Given the description of an element on the screen output the (x, y) to click on. 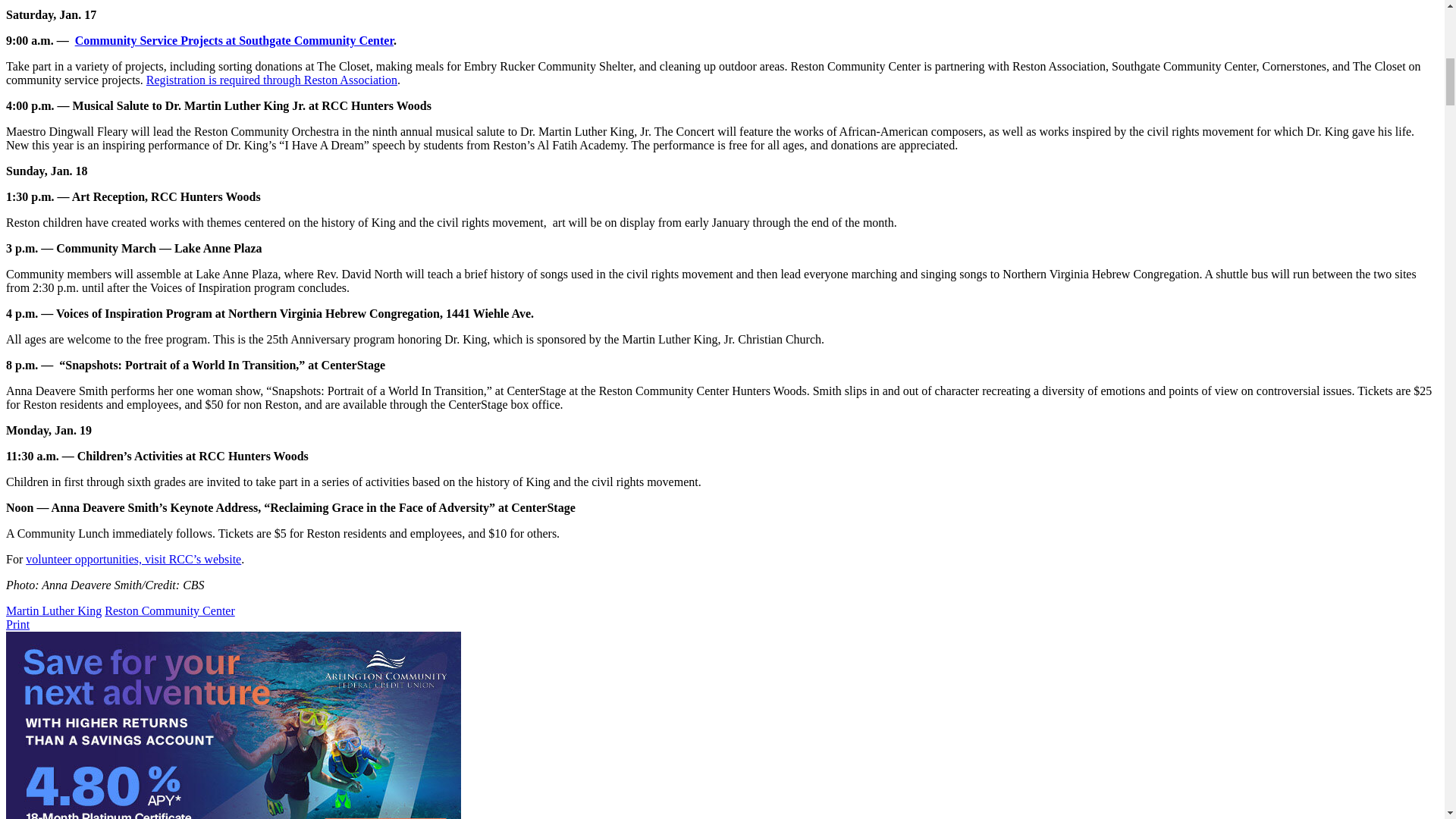
ACFCU Certificates FFXnow (233, 725)
Registration is required through Reston Association (272, 79)
Community Service Projects at Southgate Community Center (234, 40)
Martin Luther King (53, 610)
Reston Community Center (169, 610)
Printer Friendly and PDF (17, 624)
Print (17, 624)
